Given the description of an element on the screen output the (x, y) to click on. 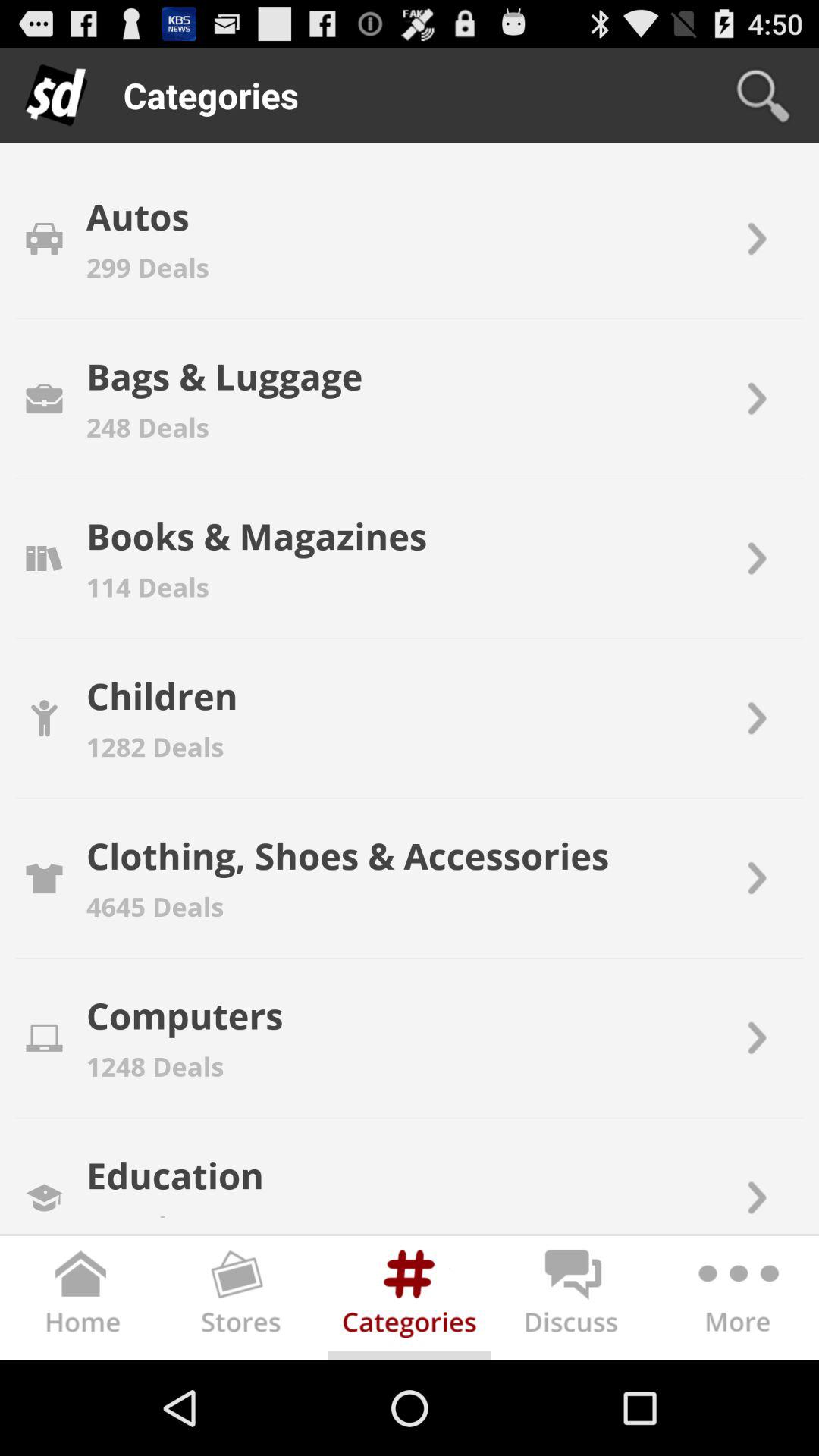
click categories (409, 1301)
